Given the description of an element on the screen output the (x, y) to click on. 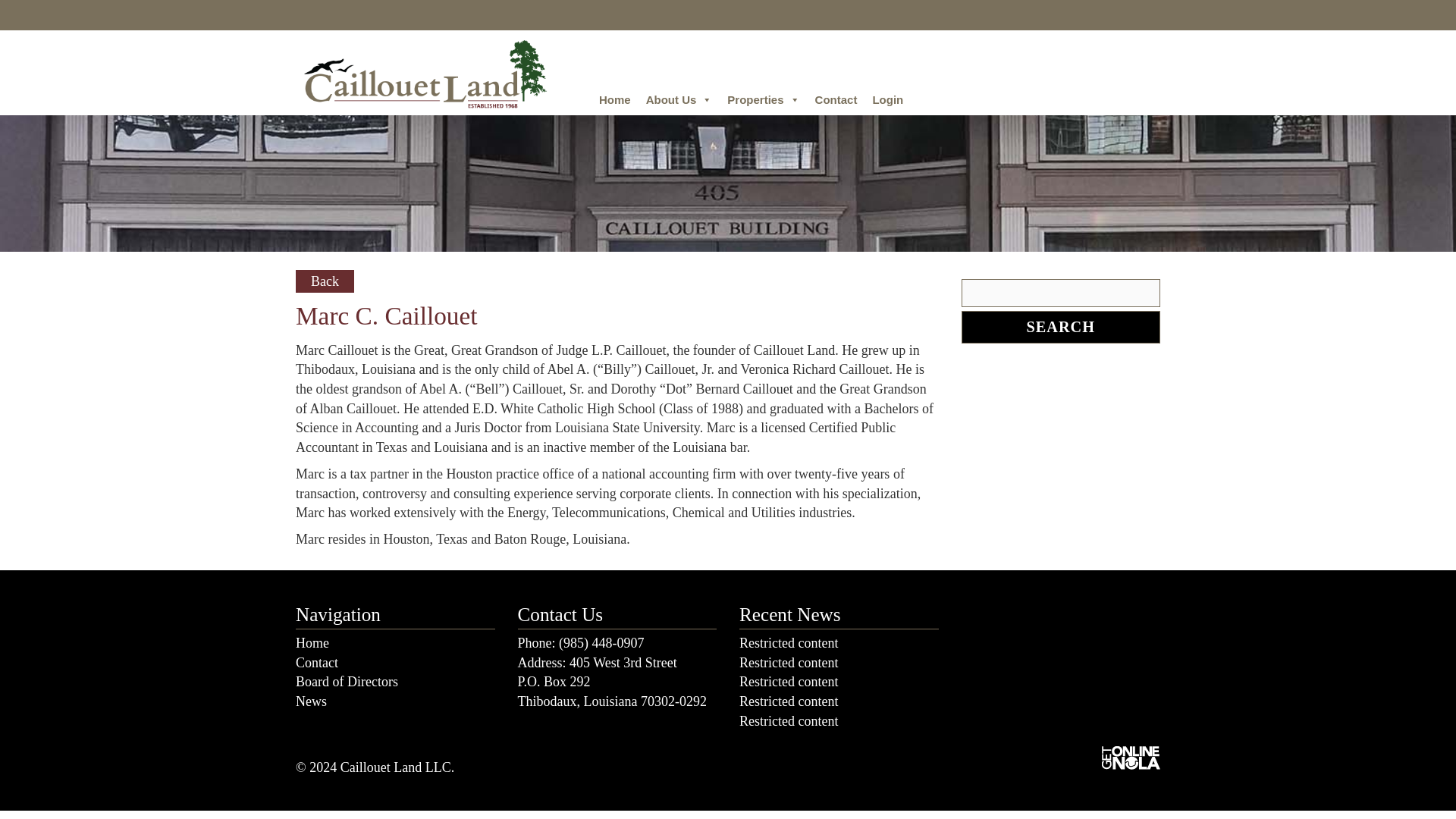
Search (1060, 327)
News (310, 701)
Contact (836, 100)
About Us (679, 100)
Home (615, 100)
Restricted content (788, 720)
Properties (762, 100)
Search (1060, 327)
Restricted content (788, 681)
Back (324, 281)
Home (312, 642)
Restricted content (788, 701)
Contact (316, 662)
Restricted content (788, 662)
Login (887, 100)
